Given the description of an element on the screen output the (x, y) to click on. 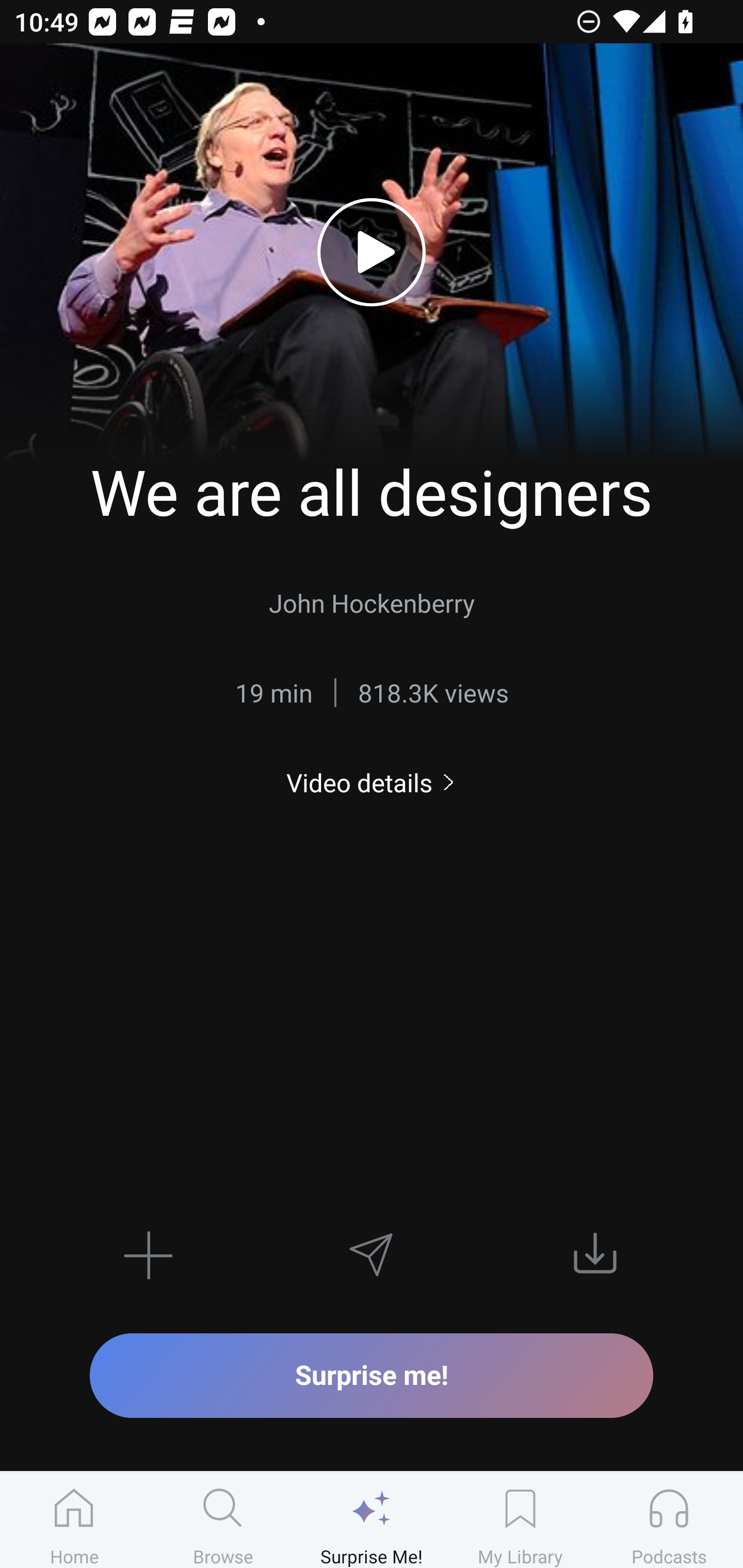
Video details (371, 783)
Surprise me! (371, 1374)
Home (74, 1520)
Browse (222, 1520)
Surprise Me! (371, 1520)
My Library (519, 1520)
Podcasts (668, 1520)
